Given the description of an element on the screen output the (x, y) to click on. 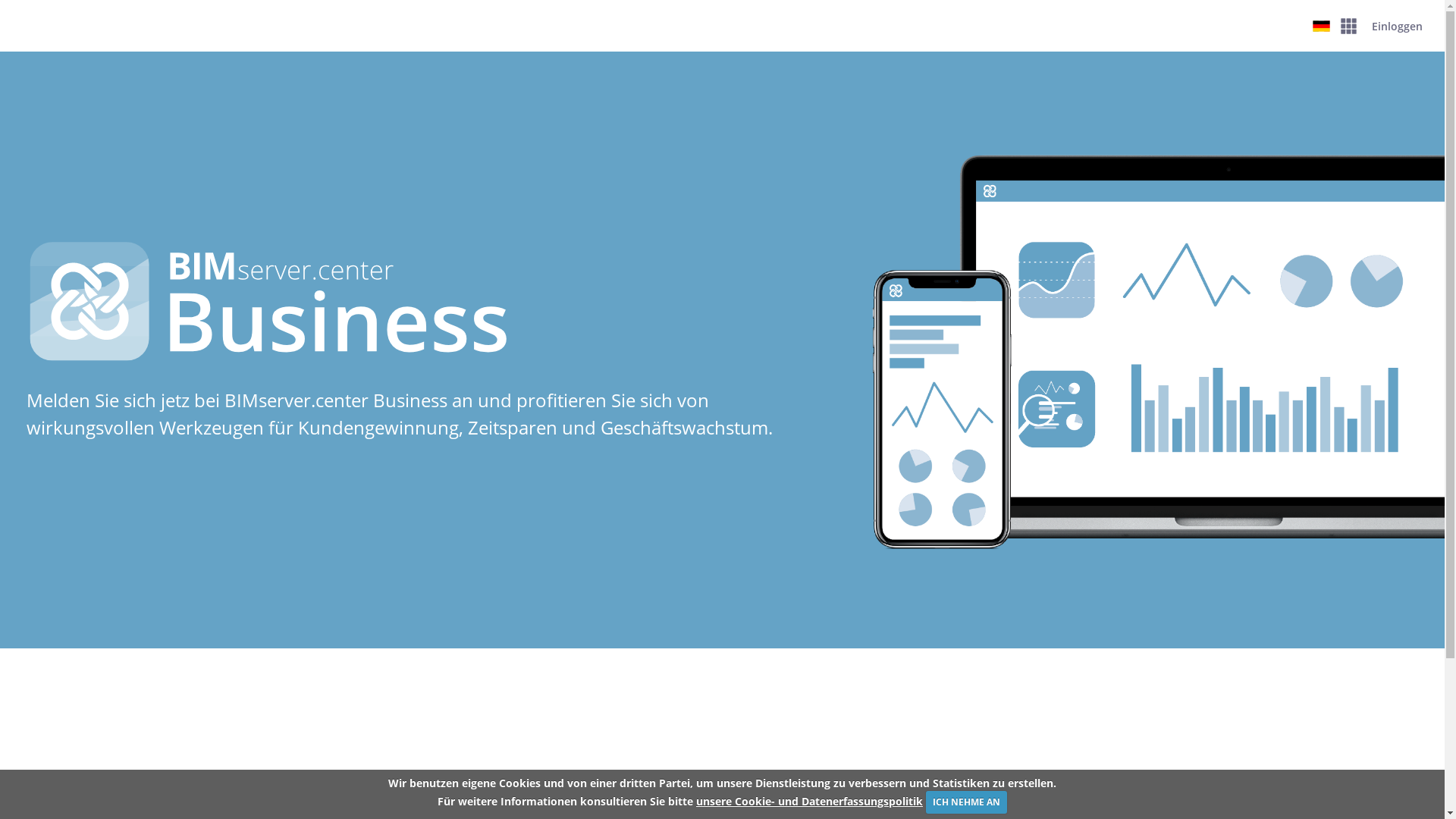
unsere Cookie- und Datenerfassungspolitik Element type: text (809, 800)
Einloggen Element type: text (1396, 25)
ICH NEHME AN Element type: text (966, 801)
